Given the description of an element on the screen output the (x, y) to click on. 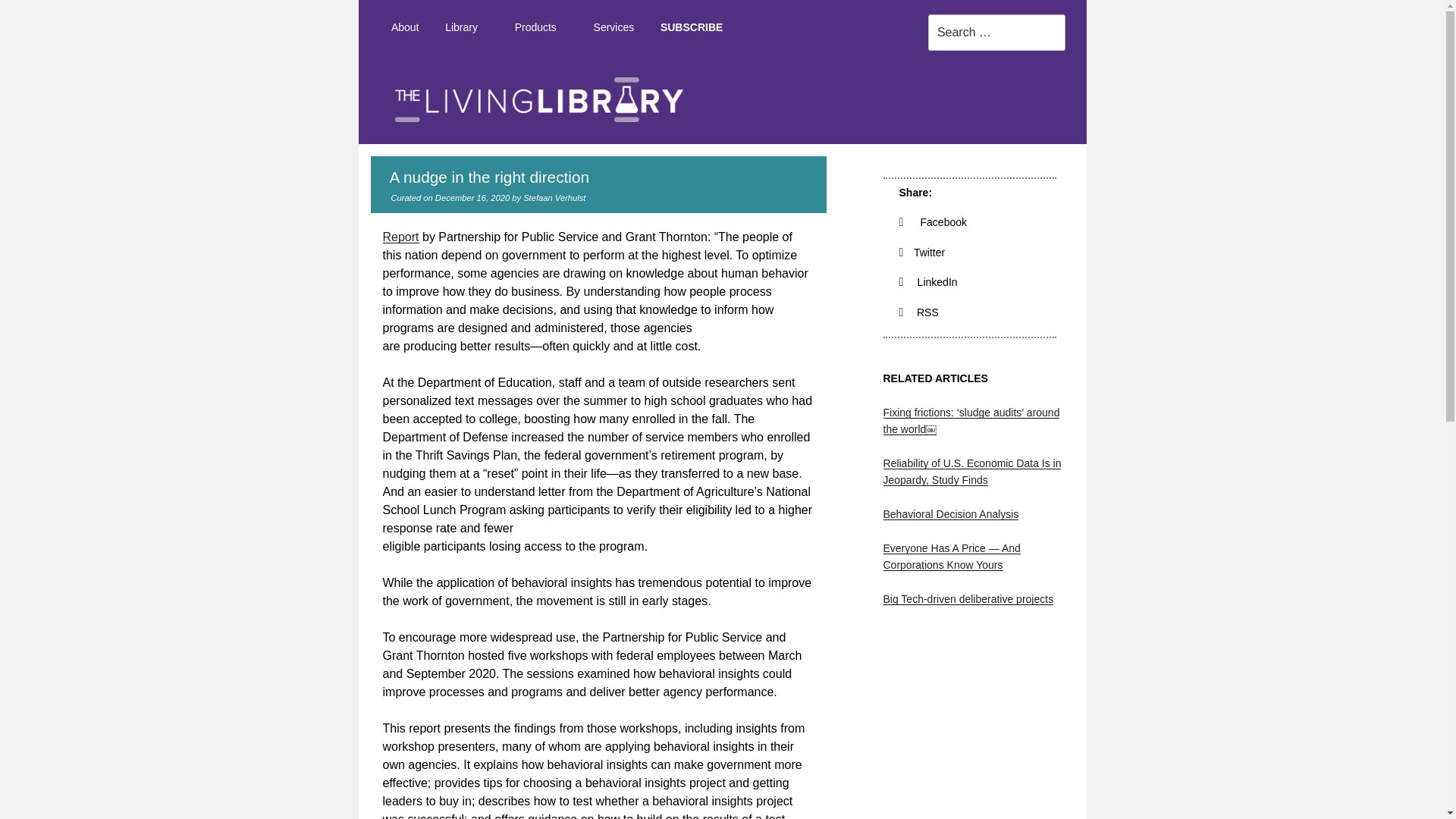
SUBSCRIBE (692, 27)
THE LIVING LIBRARY (1117, 158)
Library (466, 27)
RSS (919, 312)
Twitter (921, 252)
December 16, 2020 (472, 197)
Stefaan Verhulst (553, 197)
LinkedIn (928, 282)
About (403, 27)
Report (400, 236)
